Given the description of an element on the screen output the (x, y) to click on. 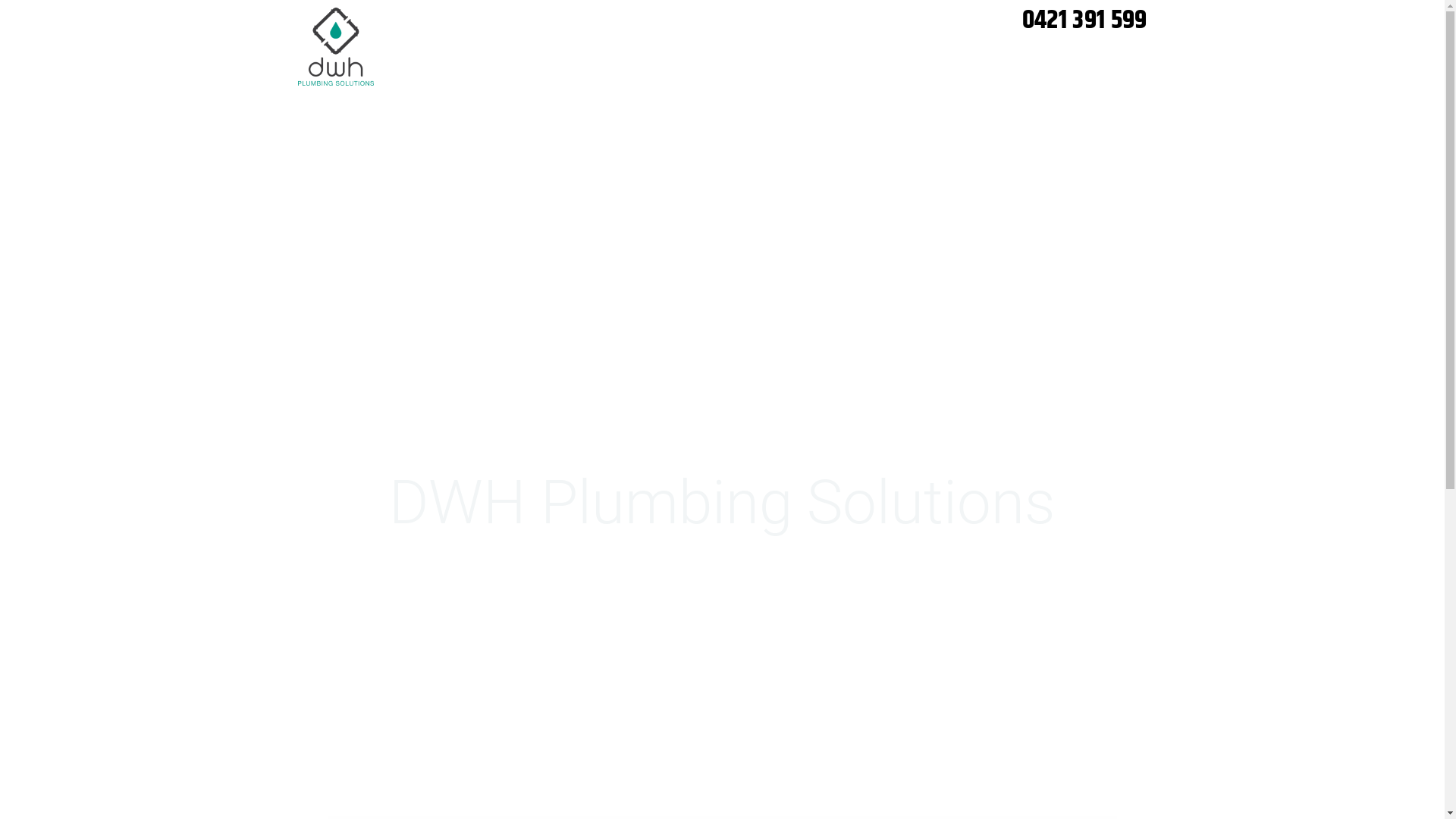
0421 391 599 Element type: text (865, 20)
